Given the description of an element on the screen output the (x, y) to click on. 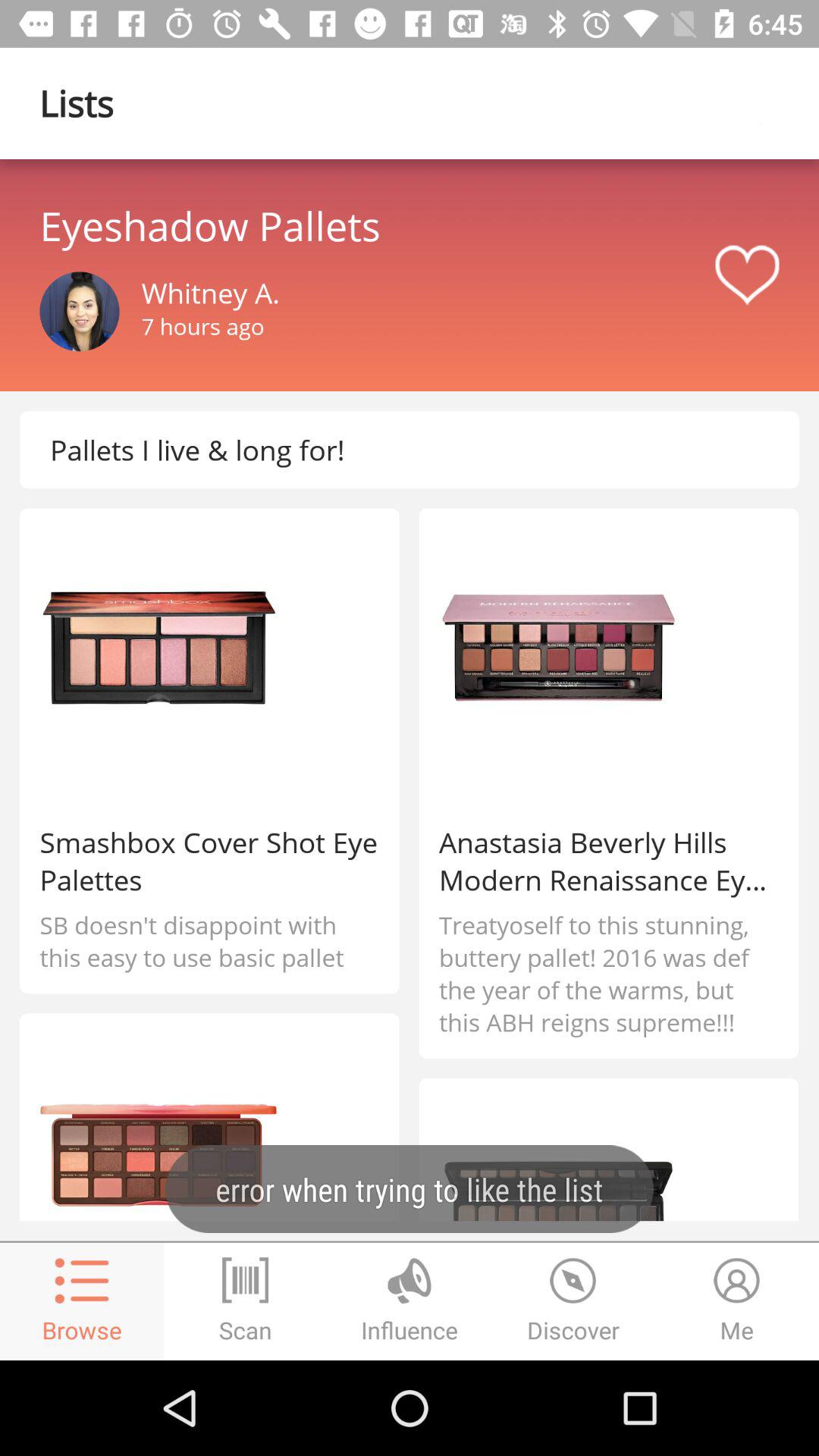
new pega (778, 103)
